Given the description of an element on the screen output the (x, y) to click on. 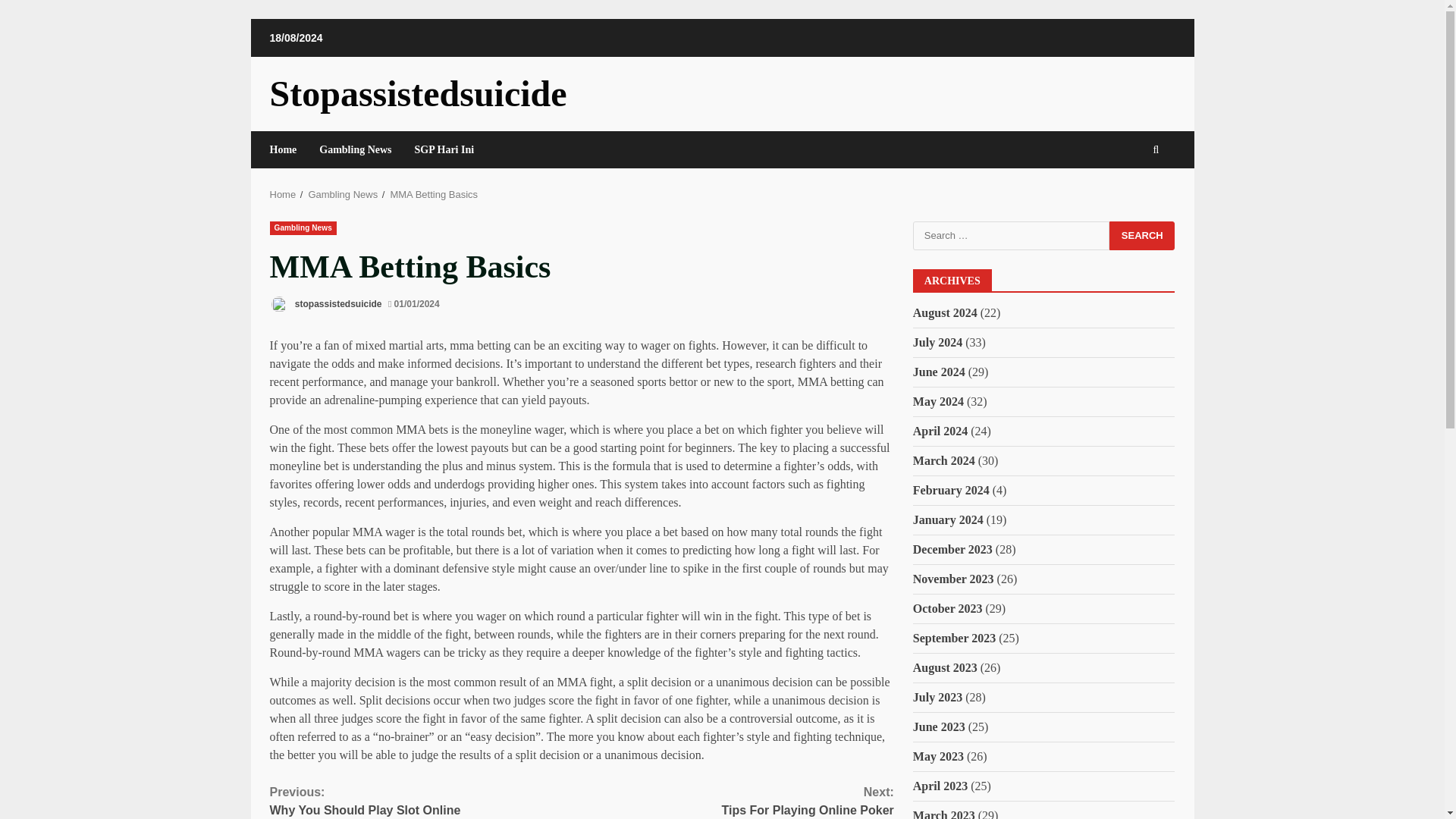
June 2023 (938, 726)
Search (1141, 235)
August 2023 (736, 800)
January 2024 (944, 667)
September 2023 (948, 519)
April 2024 (425, 800)
stopassistedsuicide (953, 637)
May 2024 (940, 431)
